Given the description of an element on the screen output the (x, y) to click on. 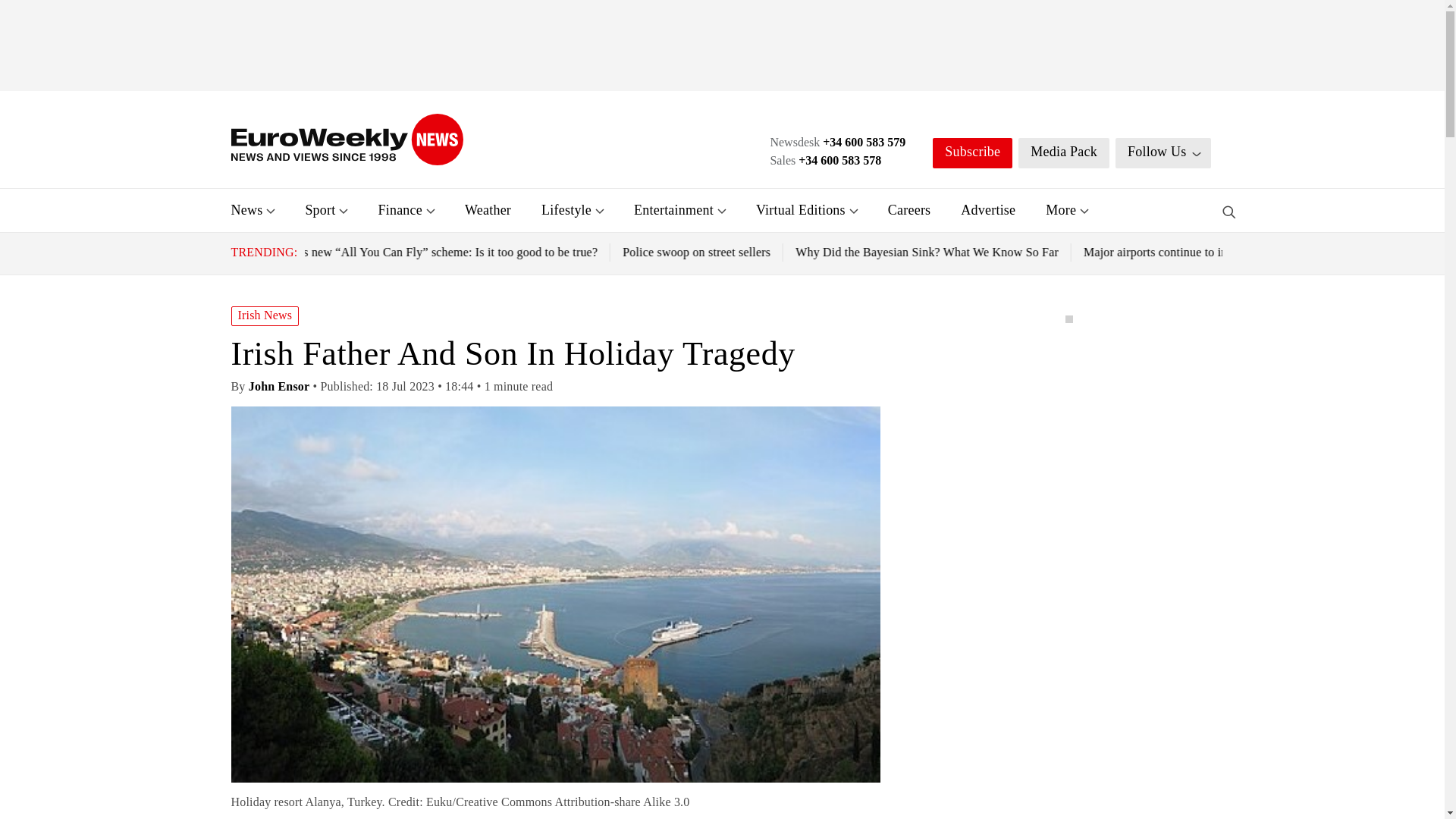
Media Pack (1063, 153)
News (246, 209)
Follow Us (1163, 153)
Subscribe (972, 153)
